Given the description of an element on the screen output the (x, y) to click on. 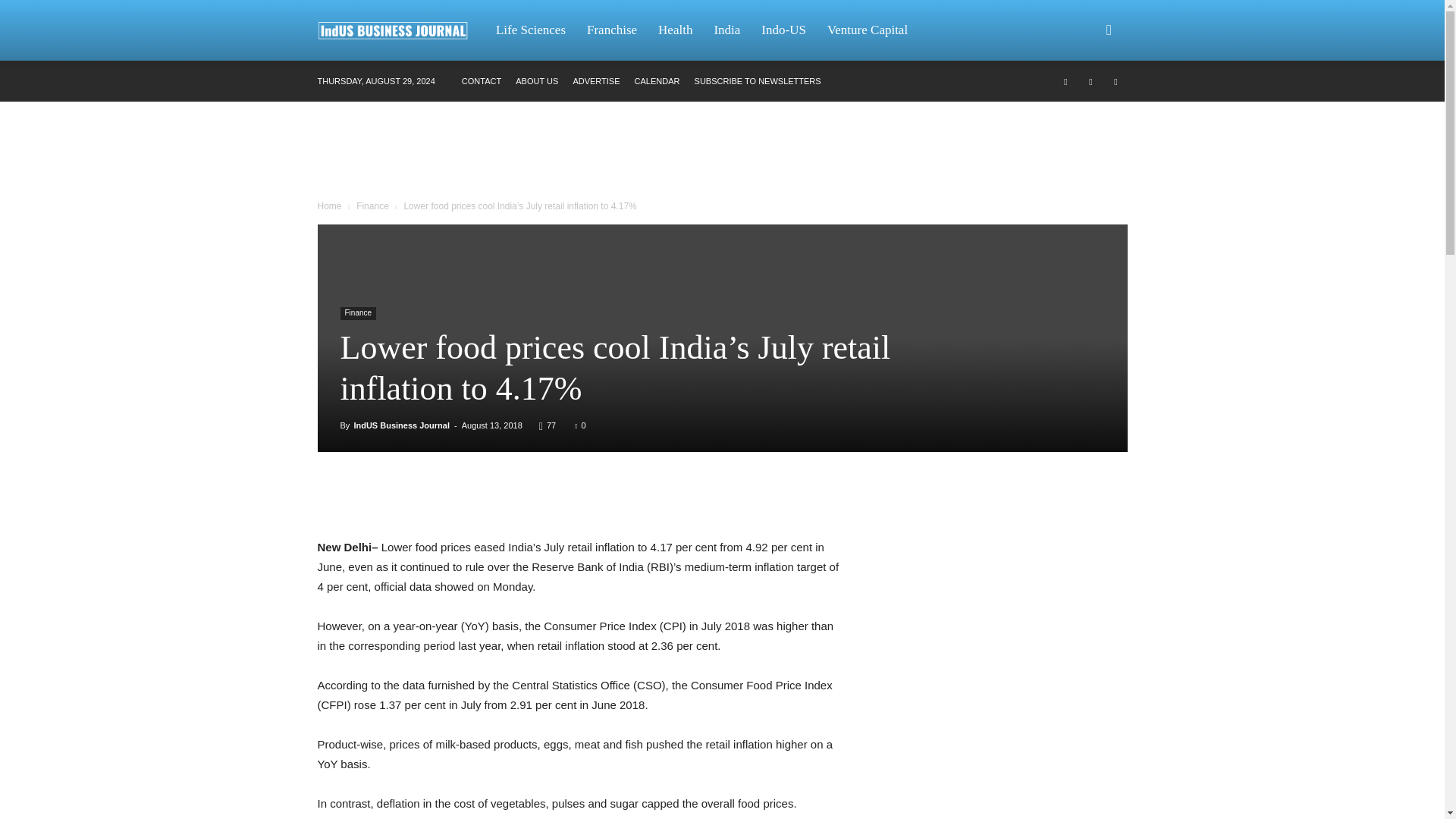
Finance (357, 313)
Search (1085, 102)
SUBSCRIBE TO NEWSLETTERS (757, 80)
View all posts in Finance (372, 205)
0 (580, 424)
CONTACT (480, 80)
Life Sciences (530, 30)
ABOUT US (536, 80)
CALENDAR (656, 80)
Franchise (611, 30)
